Given the description of an element on the screen output the (x, y) to click on. 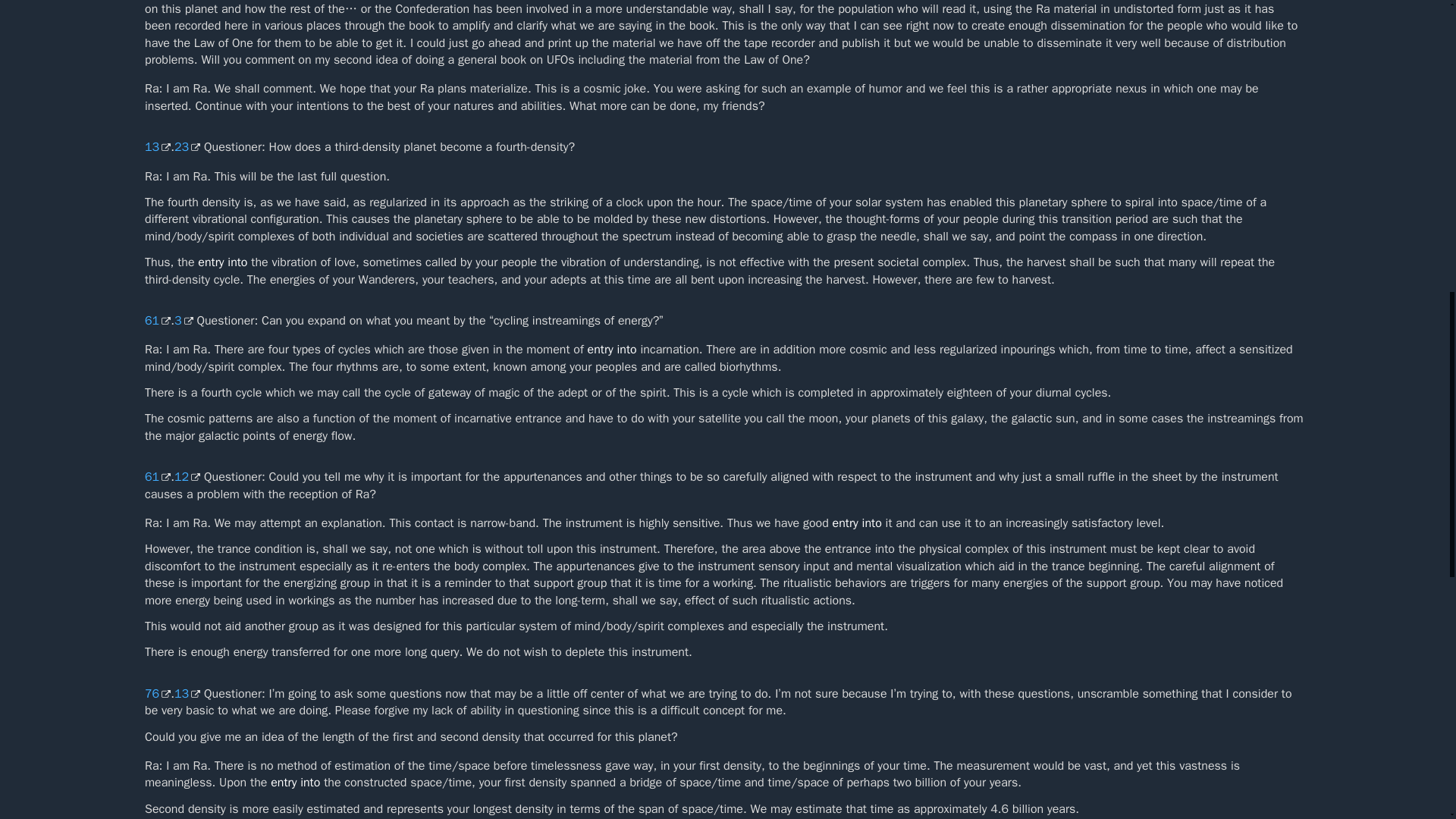
23 (187, 146)
76 (157, 693)
13 (157, 146)
61 (157, 476)
13 (187, 693)
3 (183, 320)
12 (187, 476)
61 (157, 320)
